Given the description of an element on the screen output the (x, y) to click on. 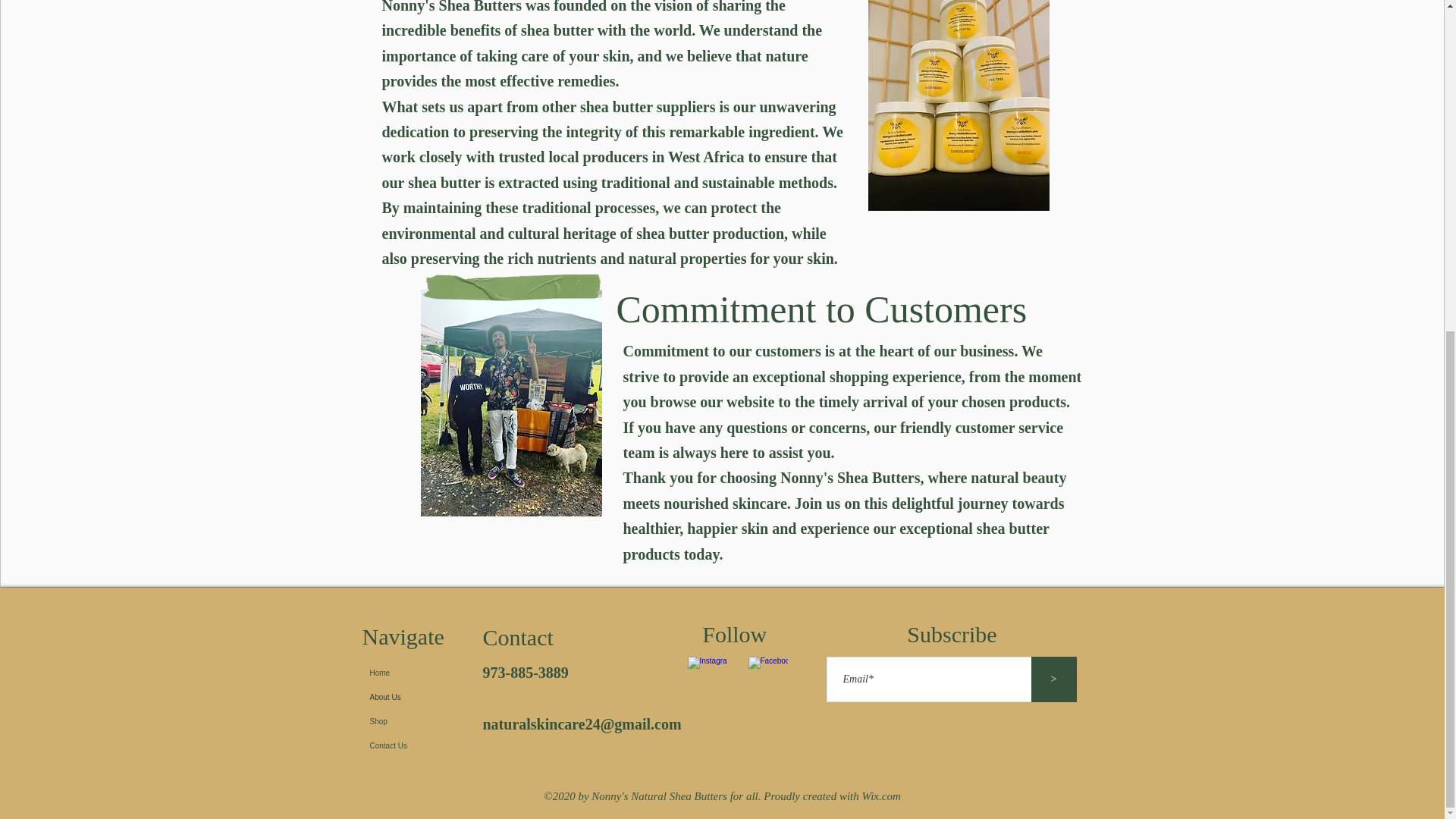
Shop (395, 721)
About Us (395, 697)
Home (395, 672)
Contact Us (395, 745)
